Given the description of an element on the screen output the (x, y) to click on. 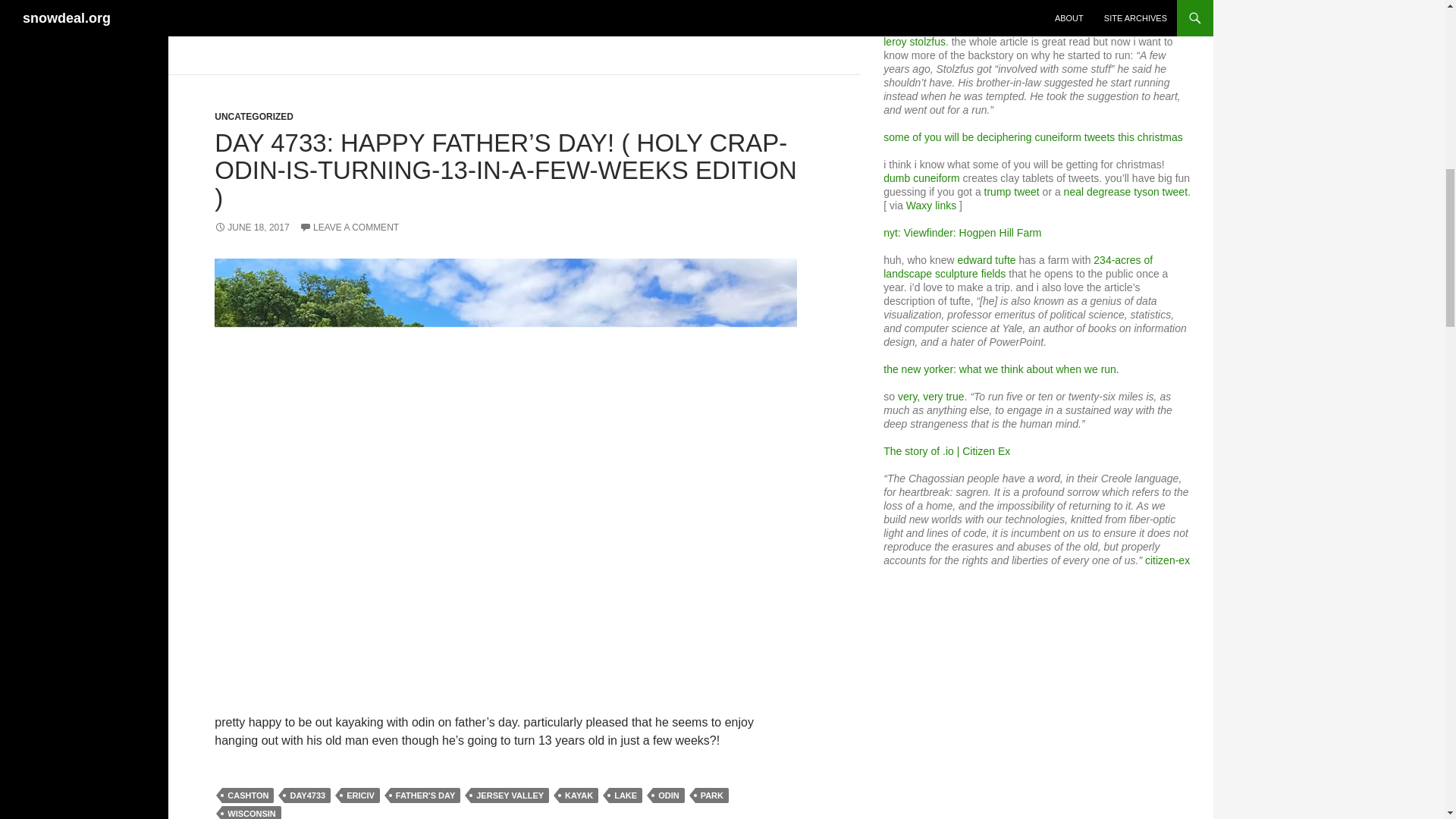
ODIN (668, 795)
FATHER'S DAY (318, 28)
LAKE (520, 28)
CASHTON (247, 28)
FATHER'S DAY (425, 795)
PARK (712, 795)
UNCATEGORIZED (254, 116)
CASHTON (247, 795)
JUNE 18, 2017 (251, 226)
LEAVE A COMMENT (348, 226)
